Given the description of an element on the screen output the (x, y) to click on. 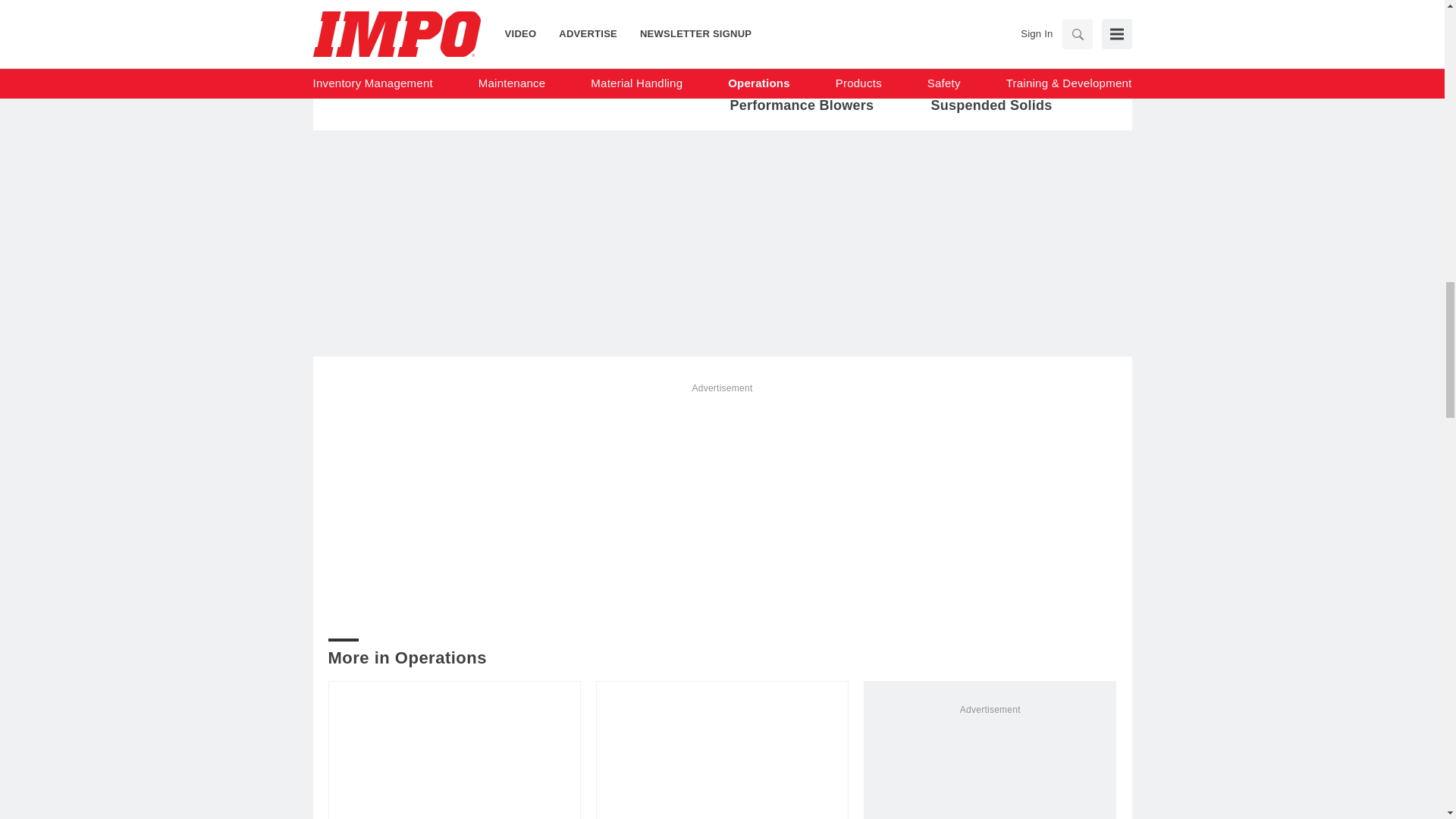
Operations (976, 42)
Operations (775, 42)
Operations (574, 42)
Operations (373, 42)
